Given the description of an element on the screen output the (x, y) to click on. 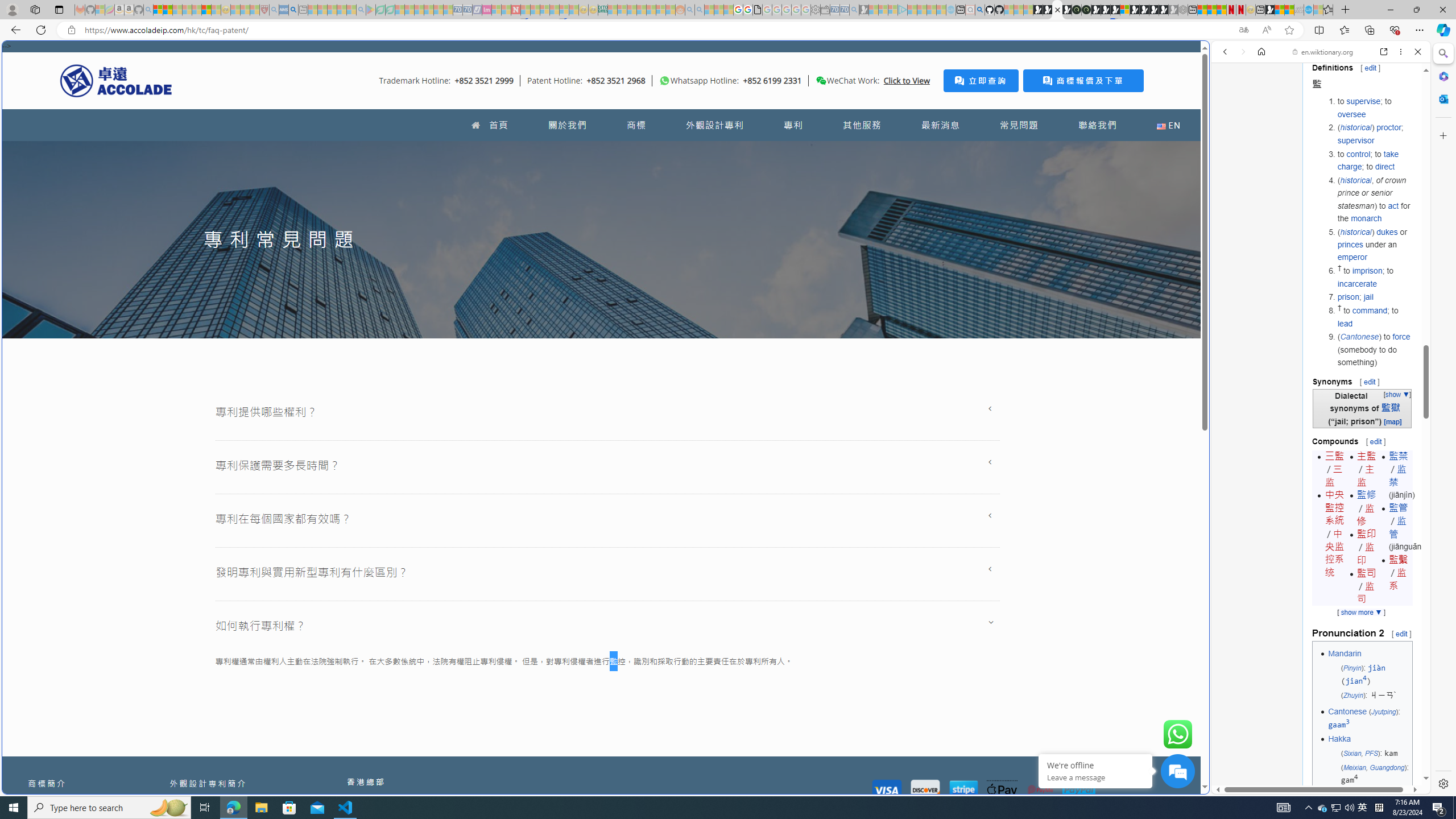
EN (1168, 124)
monarch (1366, 217)
